Given the description of an element on the screen output the (x, y) to click on. 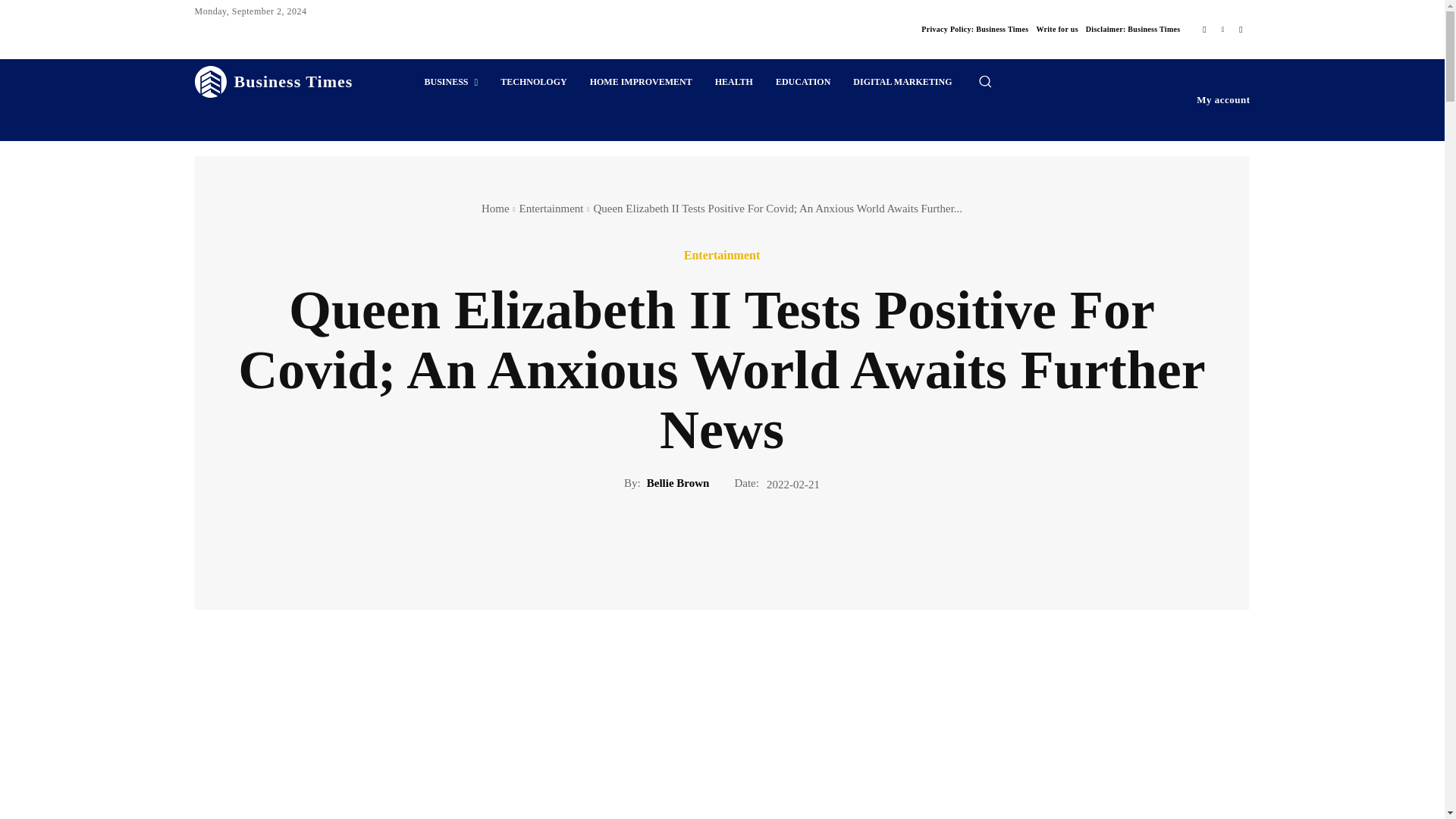
Facebook (1203, 29)
DIGITAL MARKETING (901, 81)
Disclaimer: Business Times (1133, 29)
Business Times (272, 81)
Write for us (1056, 29)
Linkedin (1221, 29)
HEALTH (733, 81)
TECHNOLOGY (533, 81)
RSS (1240, 29)
BUSINESS (450, 81)
